Given the description of an element on the screen output the (x, y) to click on. 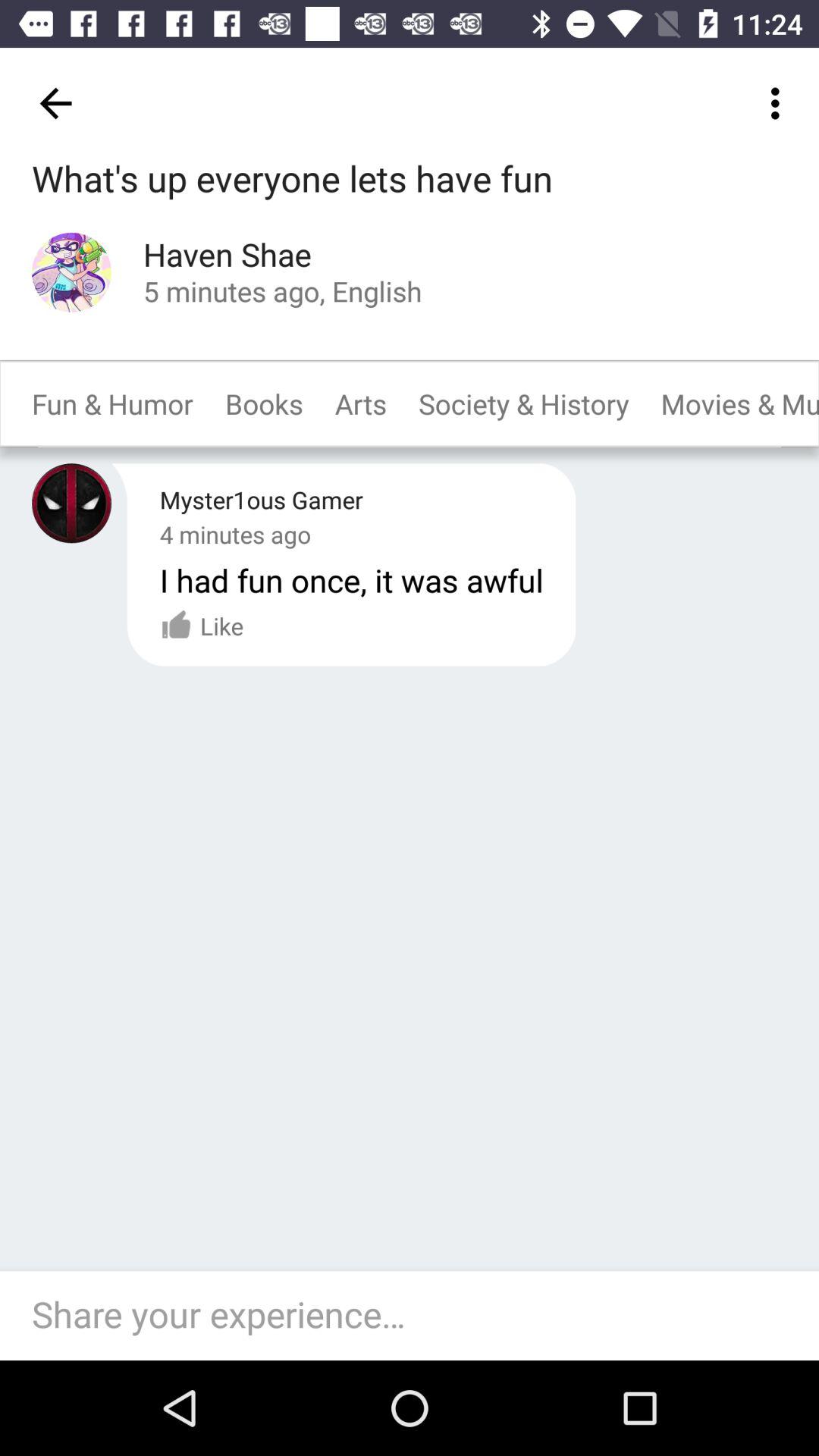
view profile (71, 272)
